Given the description of an element on the screen output the (x, y) to click on. 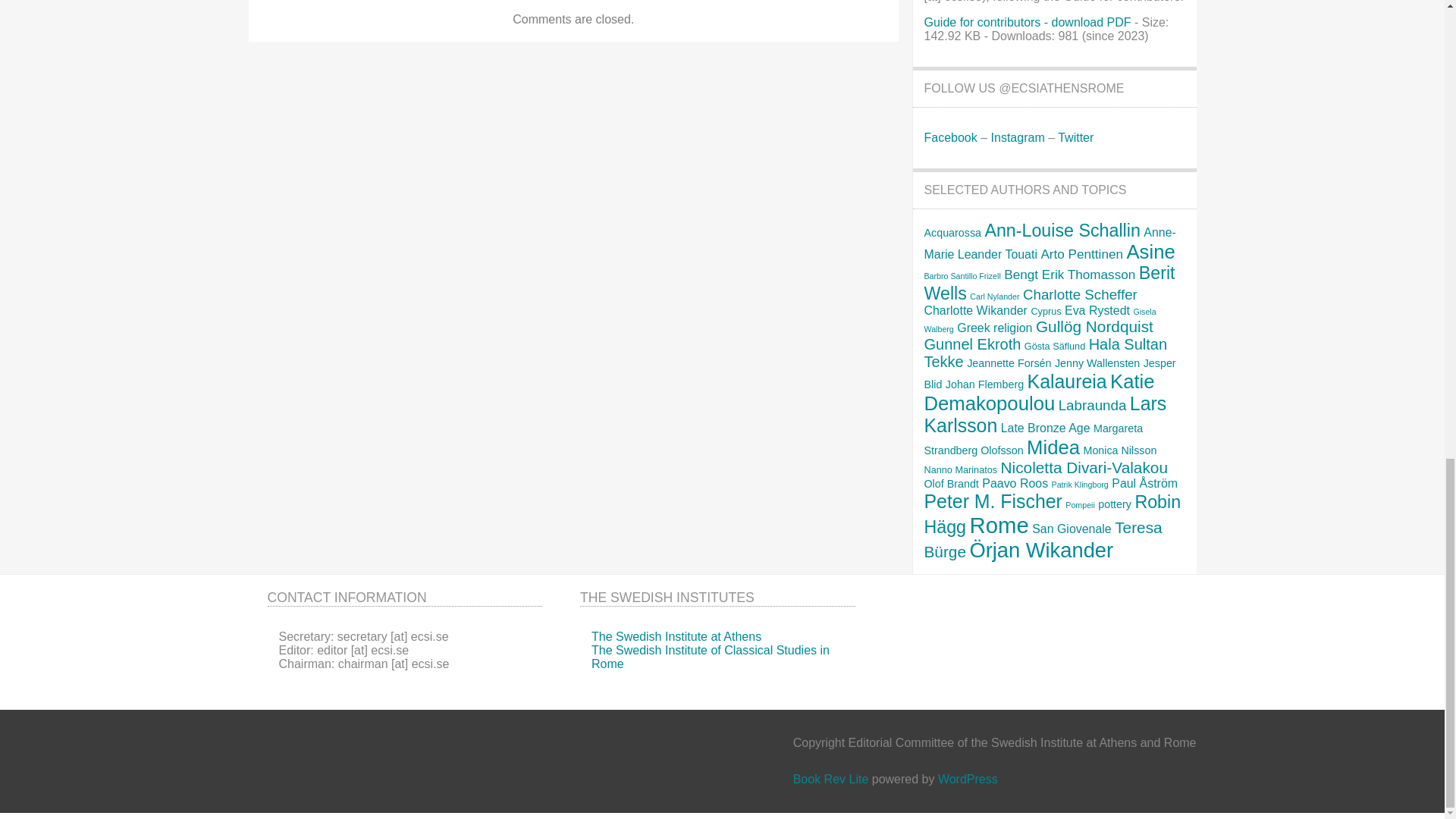
Facebook (949, 137)
981 downloads (1027, 21)
Acquarossa (952, 232)
Twitter (1075, 137)
Guide for contributors - download PDF (1027, 21)
Instagram (1018, 137)
